Given the description of an element on the screen output the (x, y) to click on. 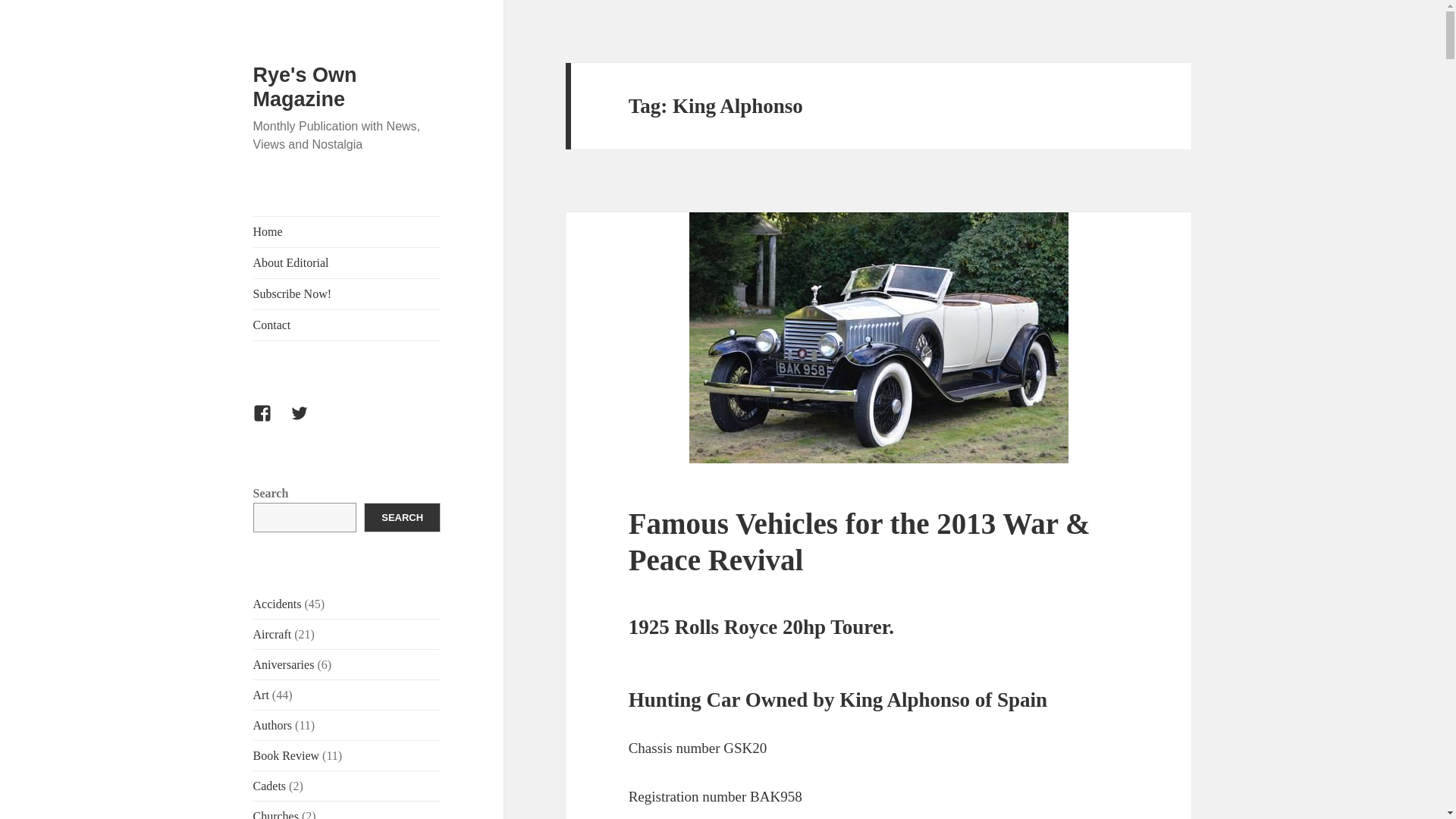
Twitter (307, 422)
Accidents (277, 603)
Rye's Own Magazine (304, 86)
Art (261, 694)
Contact (347, 325)
Home (347, 232)
Churches (275, 814)
Subscribe Now! (347, 294)
Authors (272, 725)
About Editorial (347, 263)
